Given the description of an element on the screen output the (x, y) to click on. 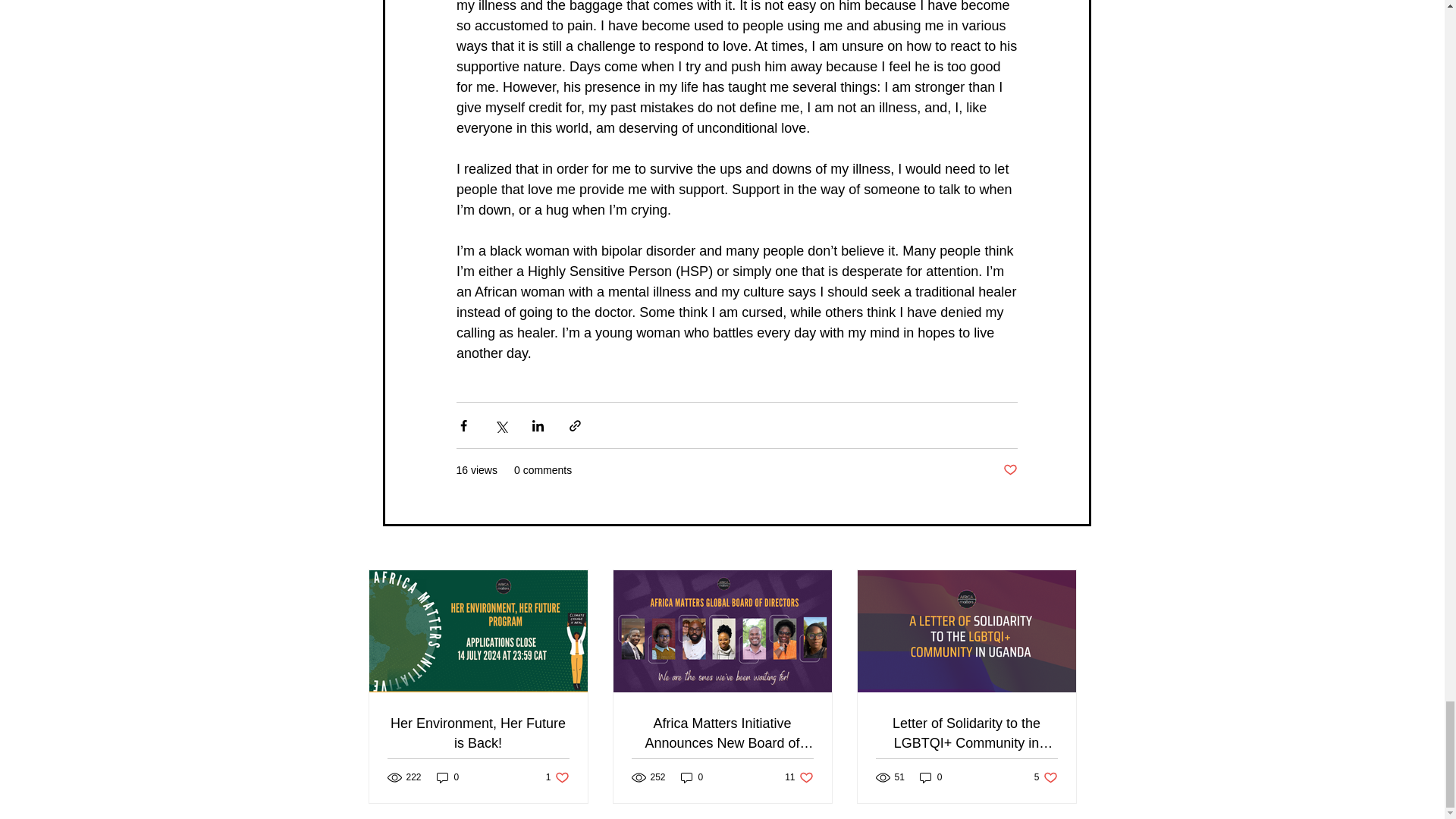
0 (448, 777)
0 (930, 777)
0 (691, 777)
Her Environment, Her Future is Back! (478, 733)
Post not marked as liked (798, 777)
